Given the description of an element on the screen output the (x, y) to click on. 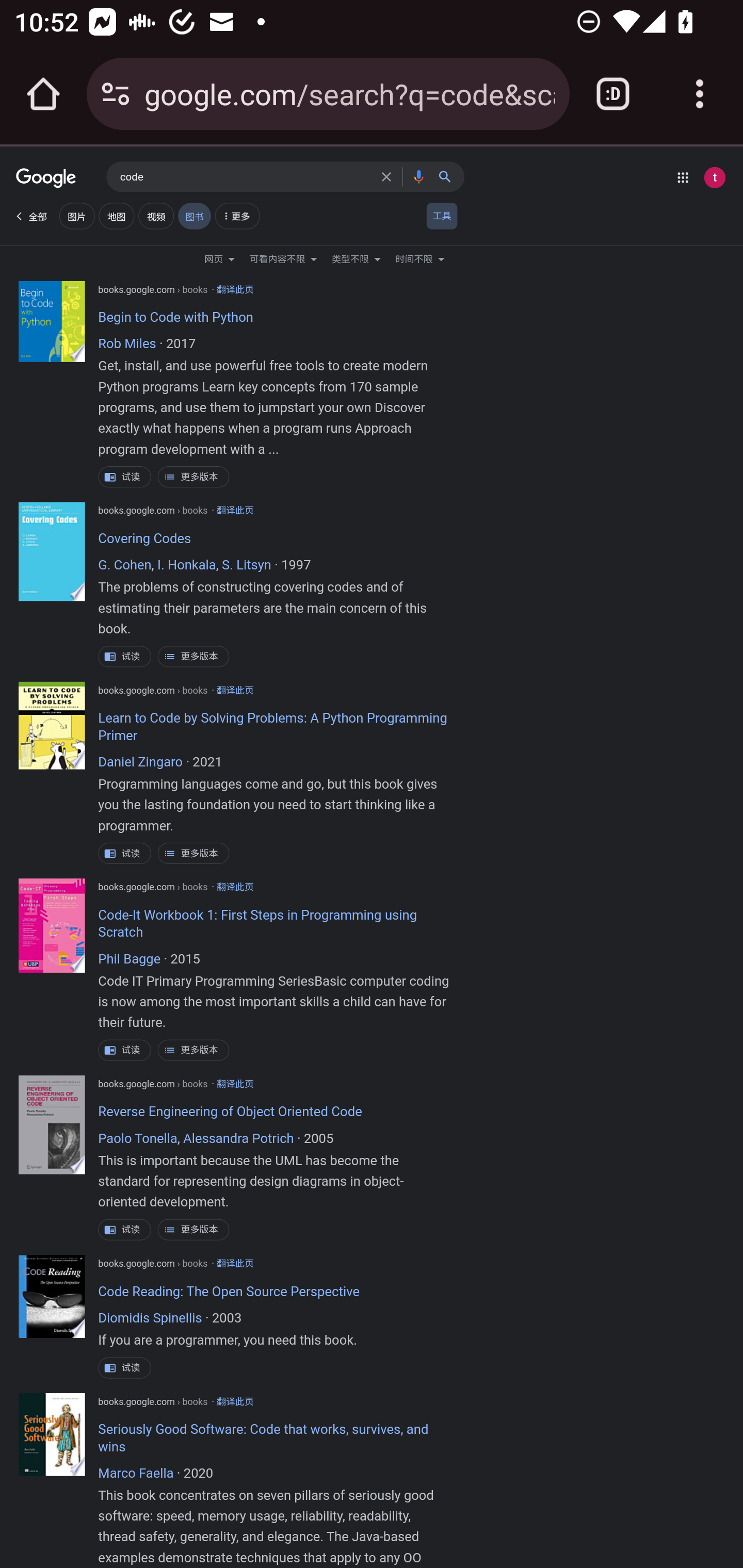
Open the home page (43, 93)
Connection is secure (115, 93)
Switch or close tabs (612, 93)
Customize and control Google Chrome (699, 93)
清除 (389, 176)
按语音搜索 (418, 176)
Google 搜索 (448, 176)
Google 应用 (682, 177)
Google 账号： test appium (testappium002@gmail.com) (714, 177)
Google Google Google (46, 179)
code (245, 177)
全部 (30, 215)
图片 (75, 215)
地图 (116, 215)
视频 (155, 215)
More Filters (236, 217)
工具 (441, 215)
翻译此页 (235, 289)
Rob Miles (127, 344)
试读 (124, 476)
更多版本 (192, 476)
翻译此页 (235, 511)
G. Cohen (124, 566)
I. Honkala (186, 566)
S. Litsyn (246, 566)
试读 (124, 656)
更多版本 (192, 656)
翻译此页 (235, 689)
Daniel Zingaro (140, 762)
试读 (124, 852)
更多版本 (192, 852)
翻译此页 (235, 886)
Phil Bagge (129, 959)
试读 (124, 1050)
更多版本 (192, 1050)
翻译此页 (235, 1084)
Paolo Tonella (137, 1138)
Alessandra Potrich (238, 1138)
试读 (124, 1229)
更多版本 (192, 1229)
翻译此页 (235, 1263)
Diomidis Spinellis (150, 1318)
试读 (124, 1367)
翻译此页 (235, 1401)
Marco Faella (135, 1474)
